Given the description of an element on the screen output the (x, y) to click on. 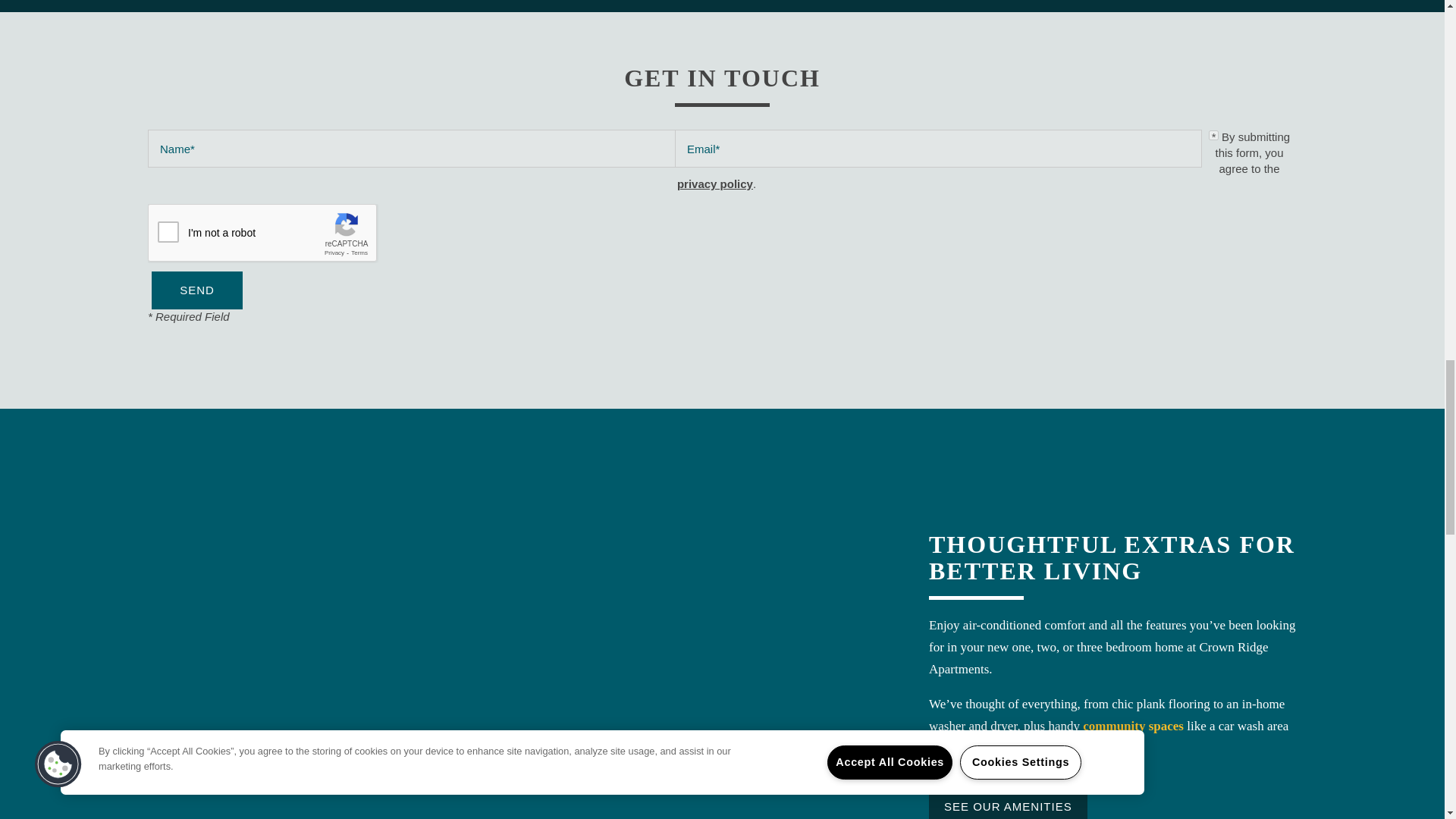
reCAPTCHA (263, 232)
Send (197, 290)
Send (197, 290)
privacy policy (714, 183)
true (1213, 135)
community spaces (1133, 726)
SEE OUR AMENITIES (1007, 803)
